Given the description of an element on the screen output the (x, y) to click on. 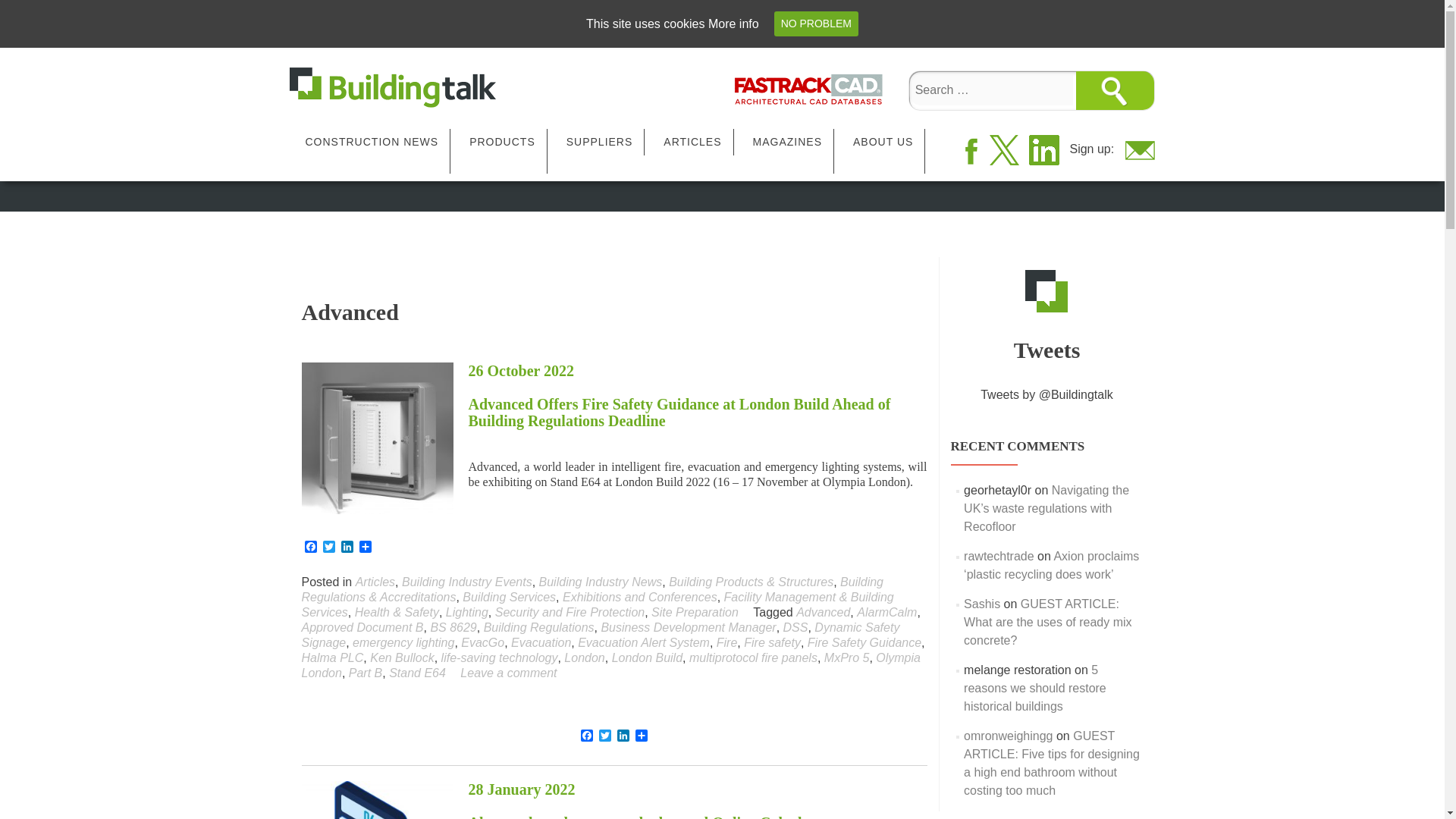
PRODUCTS (501, 141)
Facebook (310, 547)
MAGAZINES (787, 141)
Twitter (604, 736)
Twitter (328, 547)
Facebook (586, 736)
SUPPLIERS (599, 141)
Search (1114, 90)
